Given the description of an element on the screen output the (x, y) to click on. 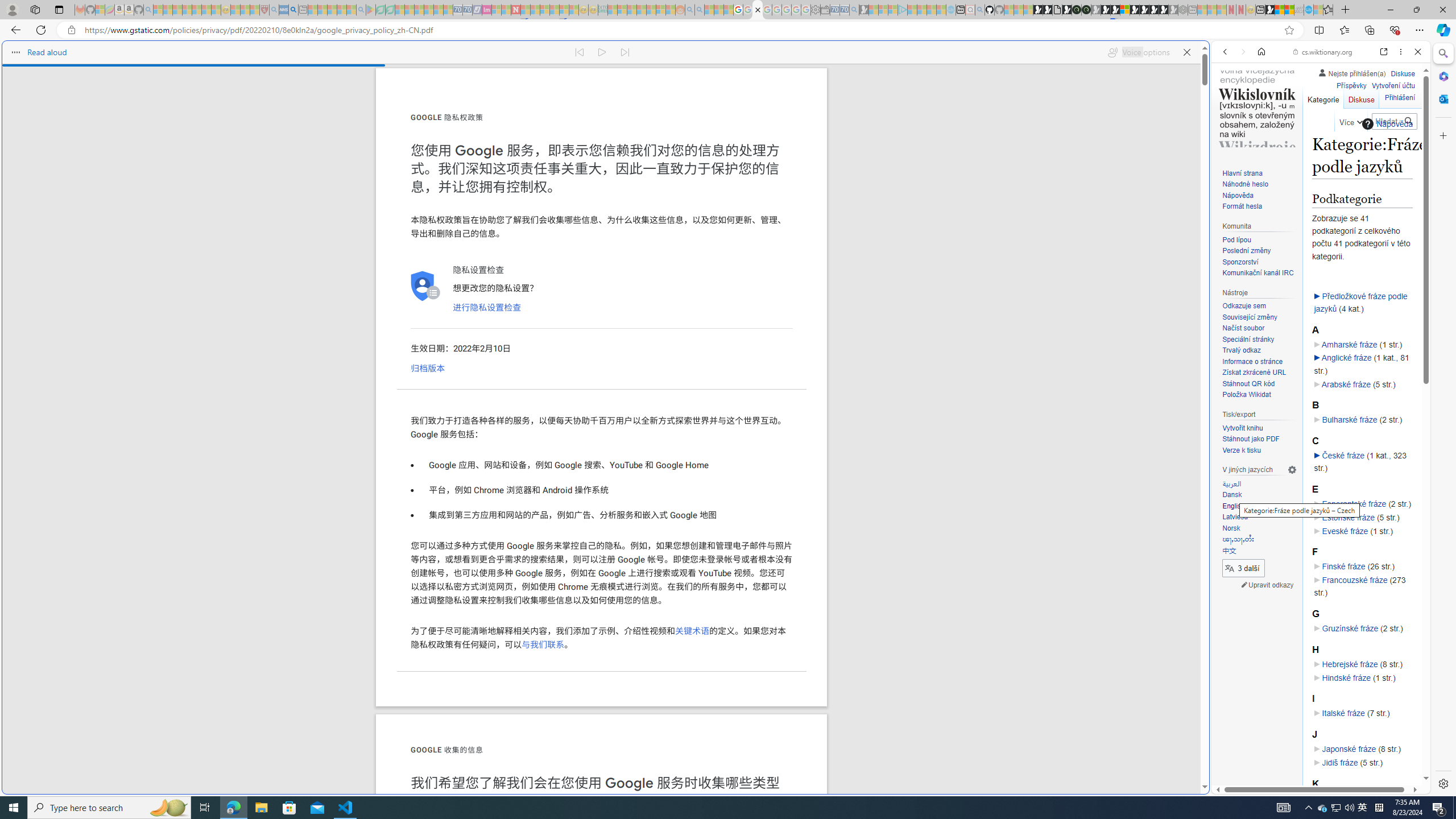
Kategorie (1323, 96)
The Weather Channel - MSN - Sleeping (177, 9)
MSNBC - MSN - Sleeping (611, 9)
